Given the description of an element on the screen output the (x, y) to click on. 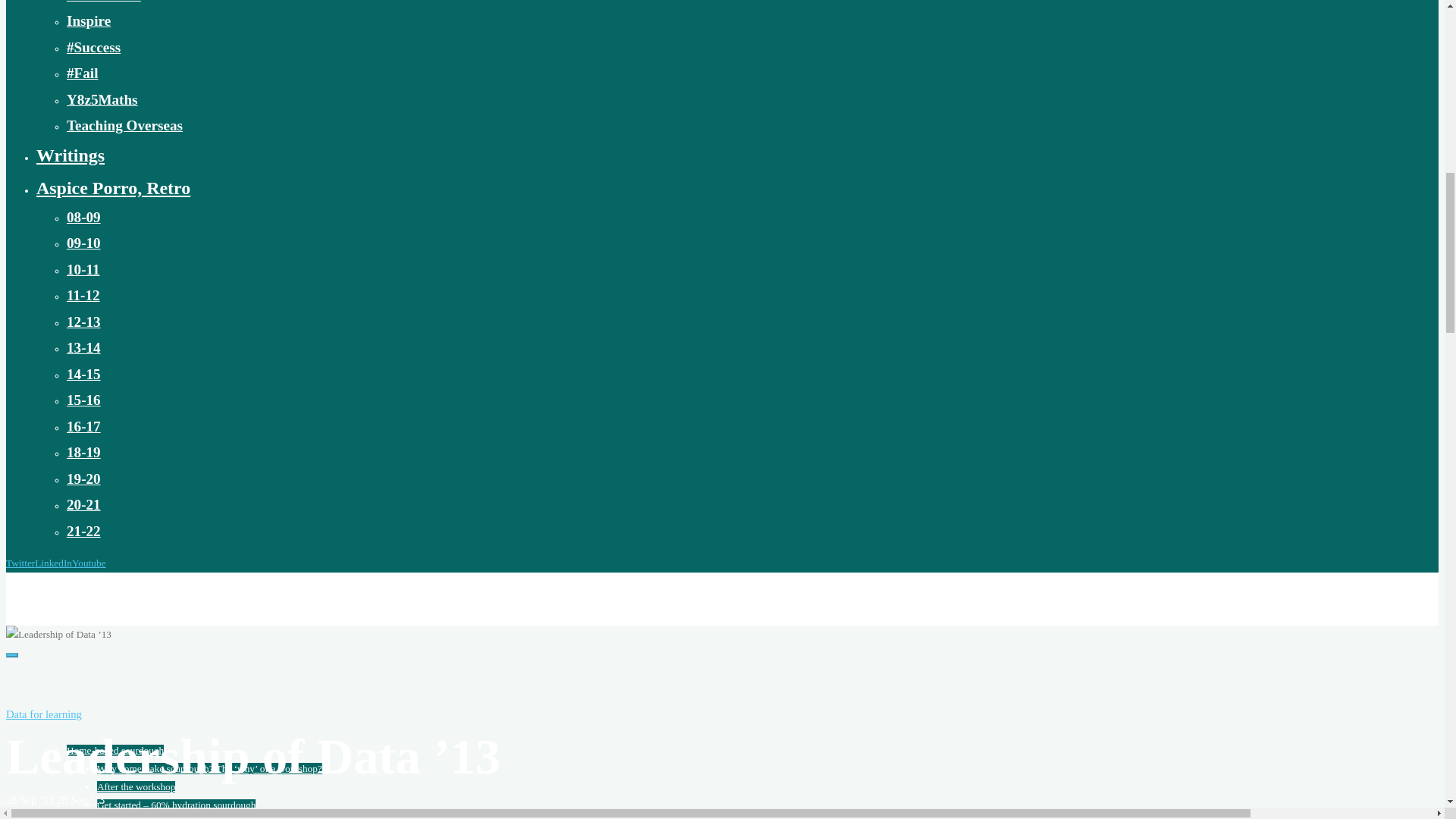
08-09 (83, 217)
Teaching Overseas (124, 125)
Y8z5Maths (102, 99)
Curriculum (103, 1)
11-12 (83, 295)
Aspice Porro, Retro (113, 188)
10-11 (83, 269)
12-13 (83, 321)
Writings (70, 155)
View all posts by Kristian Still (31, 816)
